Given the description of an element on the screen output the (x, y) to click on. 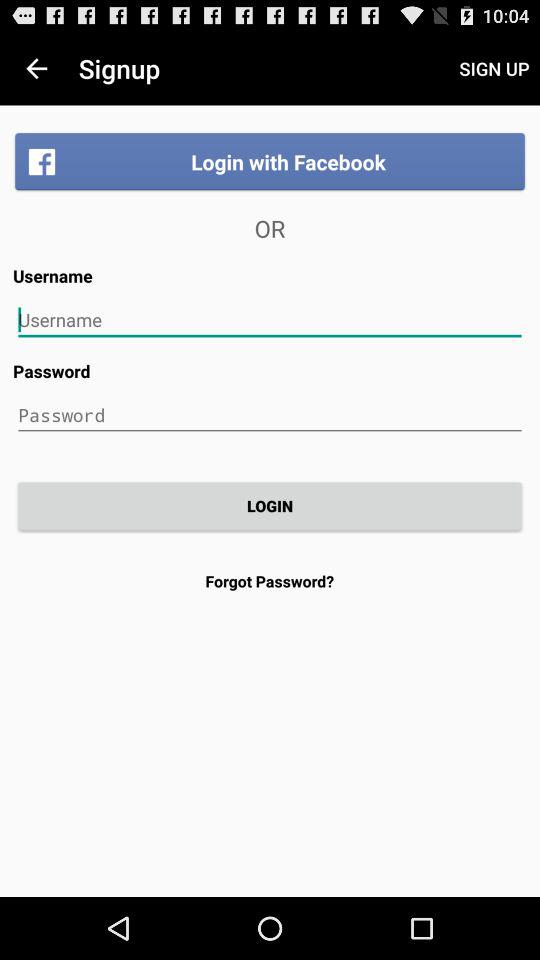
enter password (269, 415)
